Given the description of an element on the screen output the (x, y) to click on. 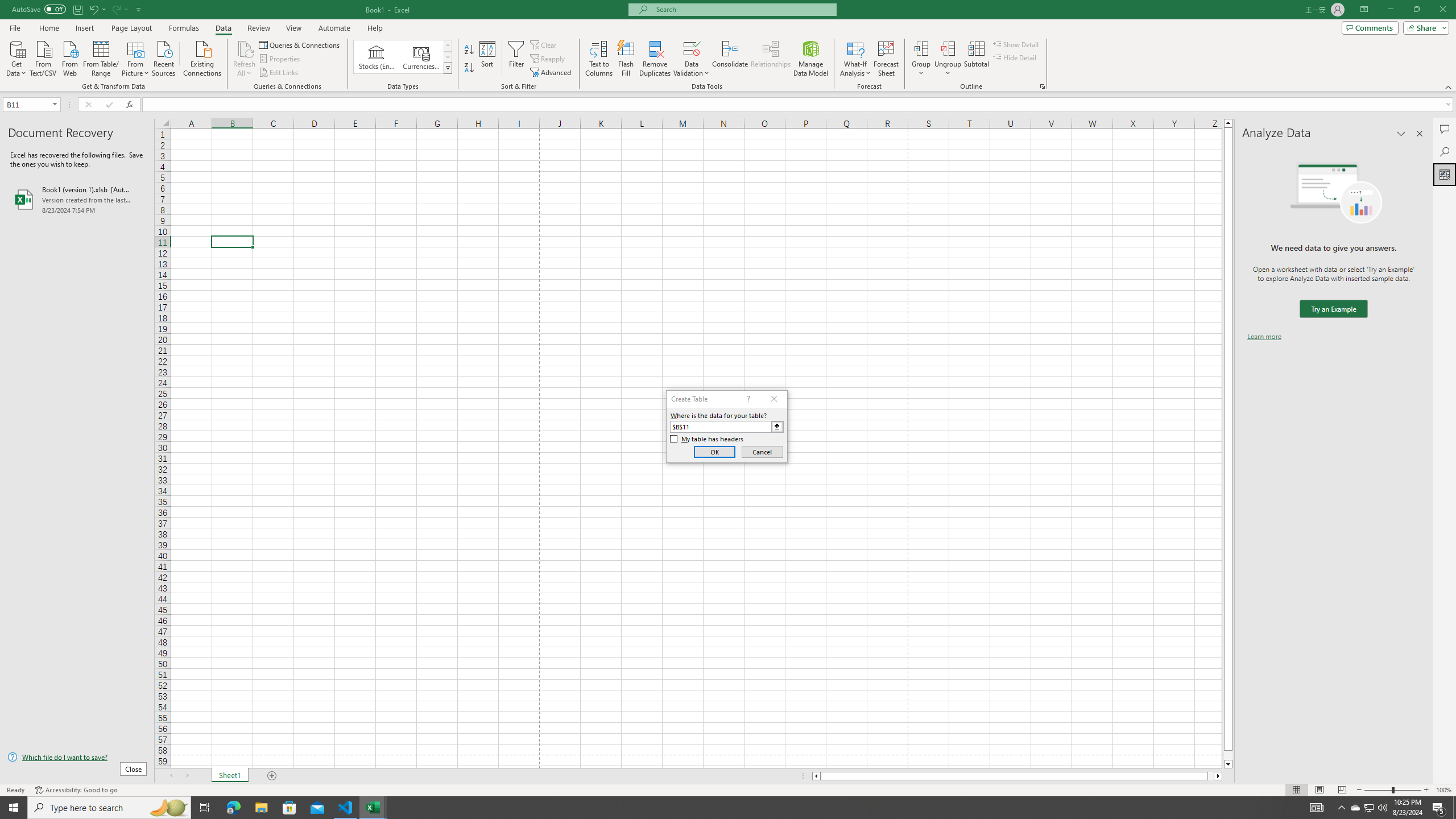
Existing Connections (202, 57)
Advanced... (551, 72)
Consolidate... (729, 58)
Remove Duplicates (654, 58)
Recent Sources (163, 57)
From Web (69, 57)
